Given the description of an element on the screen output the (x, y) to click on. 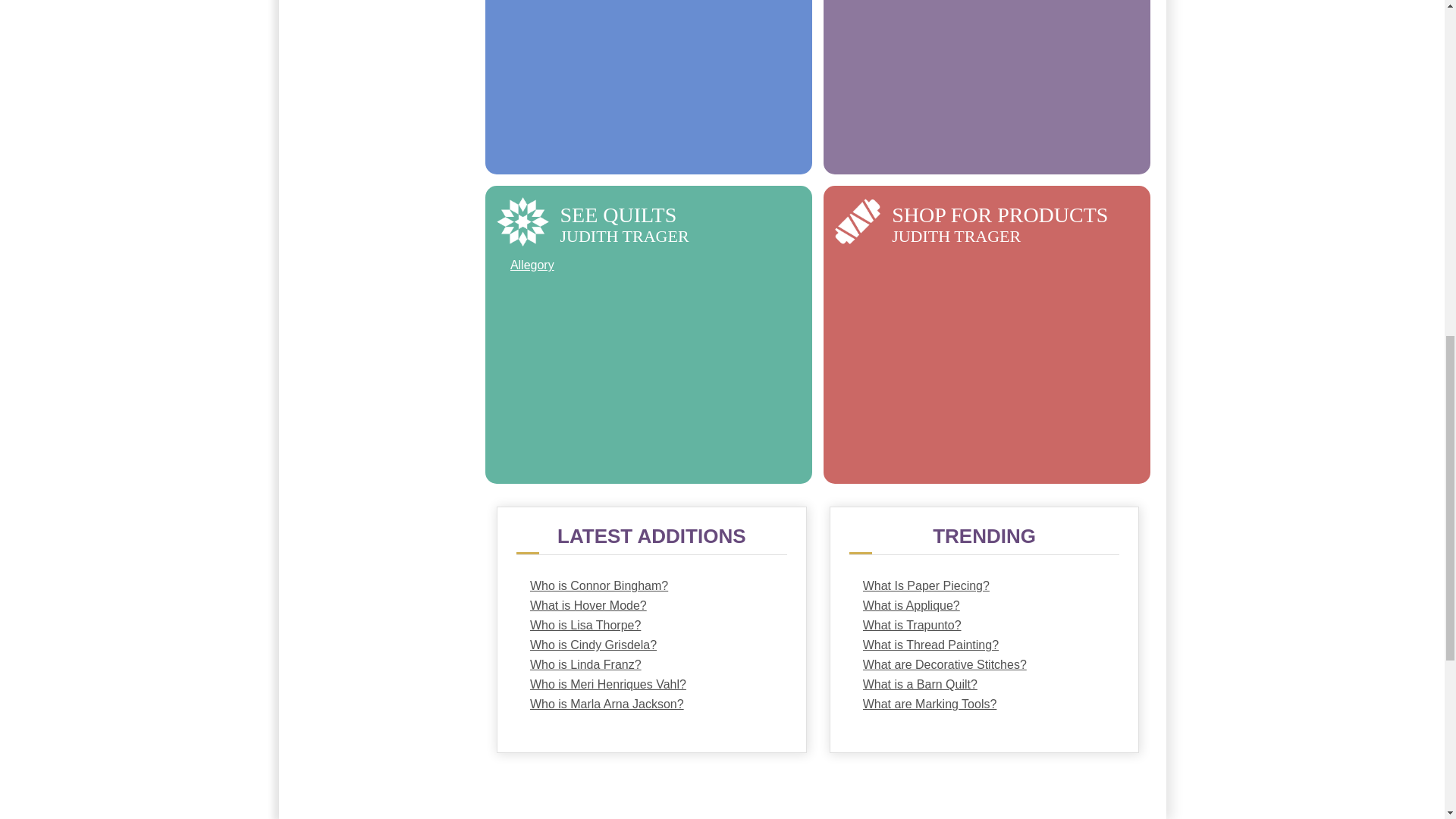
Who is Connor Bingham? (651, 586)
Who is Marla Arna Jackson? (651, 704)
Who is Linda Franz? (651, 664)
What is Hover Mode? (651, 605)
Who is Meri Henriques Vahl? (651, 684)
Who is Lisa Thorpe? (651, 625)
What Is Paper Piecing? (984, 586)
Allegory (649, 265)
Who is Cindy Grisdela? (651, 645)
